Given the description of an element on the screen output the (x, y) to click on. 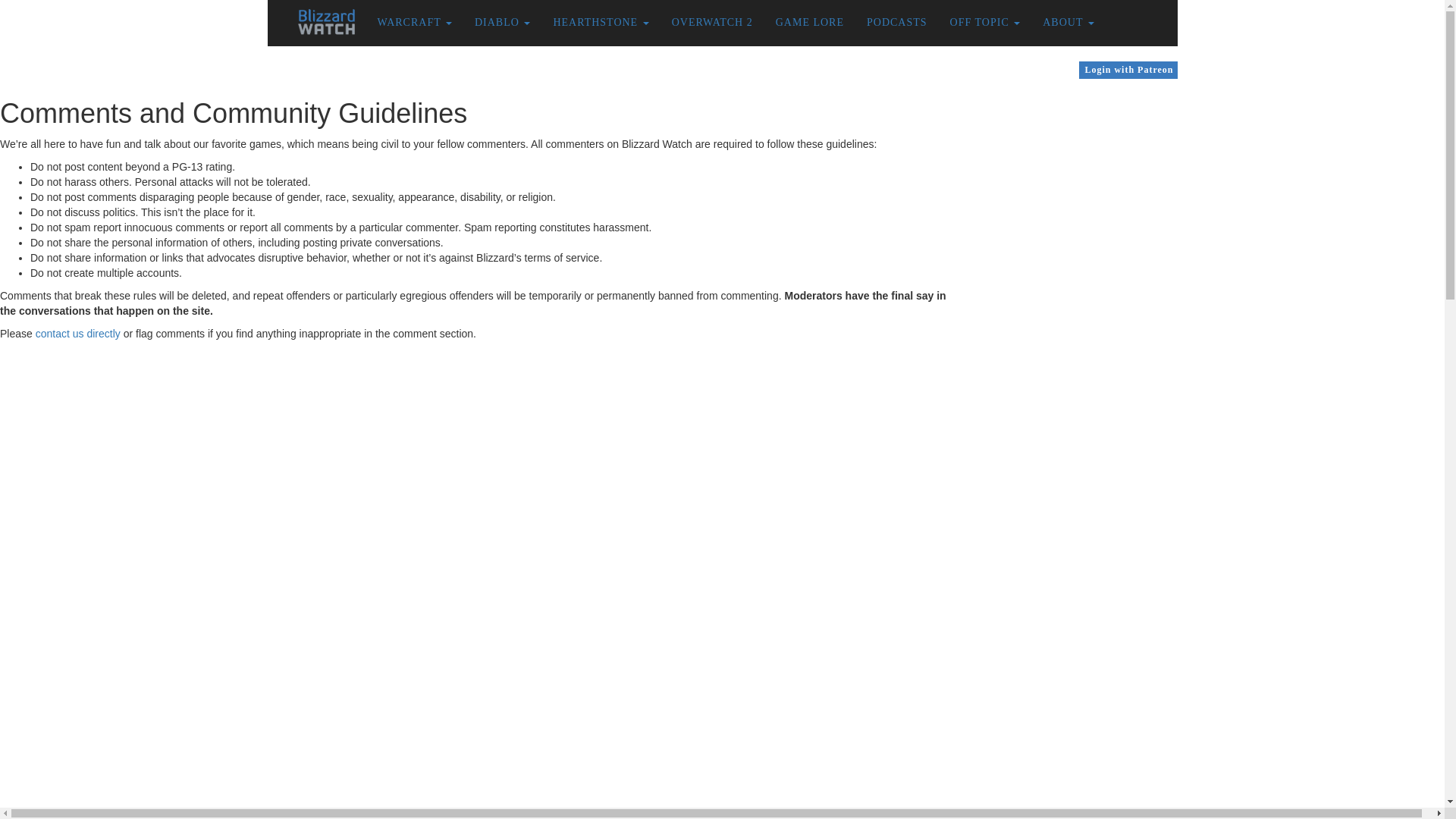
OVERWATCH 2 Element type: text (712, 22)
OFF TOPIC Element type: text (985, 22)
ABOUT Element type: text (1067, 22)
Advertisement Element type: hover (1091, 178)
WARCRAFT Element type: text (413, 22)
GAME LORE Element type: text (809, 22)
HEARTHSTONE Element type: text (600, 22)
Login with Patreon Element type: text (1128, 69)
Advertisement Element type: hover (1091, 560)
contact us directly Element type: text (77, 333)
PODCASTS Element type: text (896, 22)
DIABLO Element type: text (502, 22)
